Given the description of an element on the screen output the (x, y) to click on. 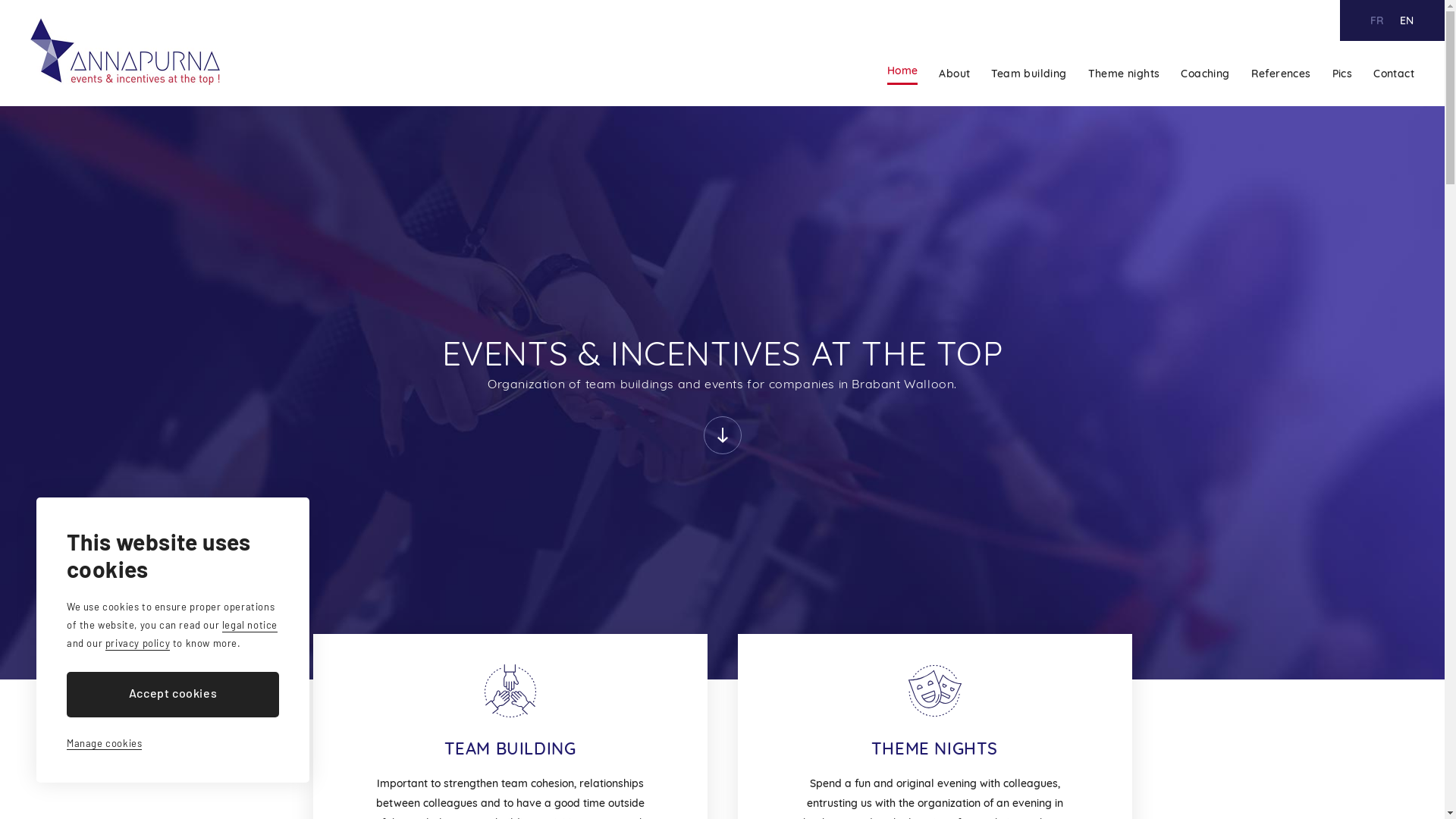
Theme nights Element type: text (1124, 73)
legal notice Element type: text (249, 625)
Team building Element type: text (1028, 73)
FR Element type: text (1377, 20)
About Element type: text (953, 73)
References Element type: text (1281, 73)
Pics Element type: text (1342, 73)
Contact Element type: text (1393, 73)
Home Element type: text (902, 73)
Annapurna Element type: hover (124, 51)
Discover Element type: hover (722, 435)
Coaching Element type: text (1204, 73)
privacy policy Element type: text (137, 643)
EN Element type: text (1406, 20)
